Given the description of an element on the screen output the (x, y) to click on. 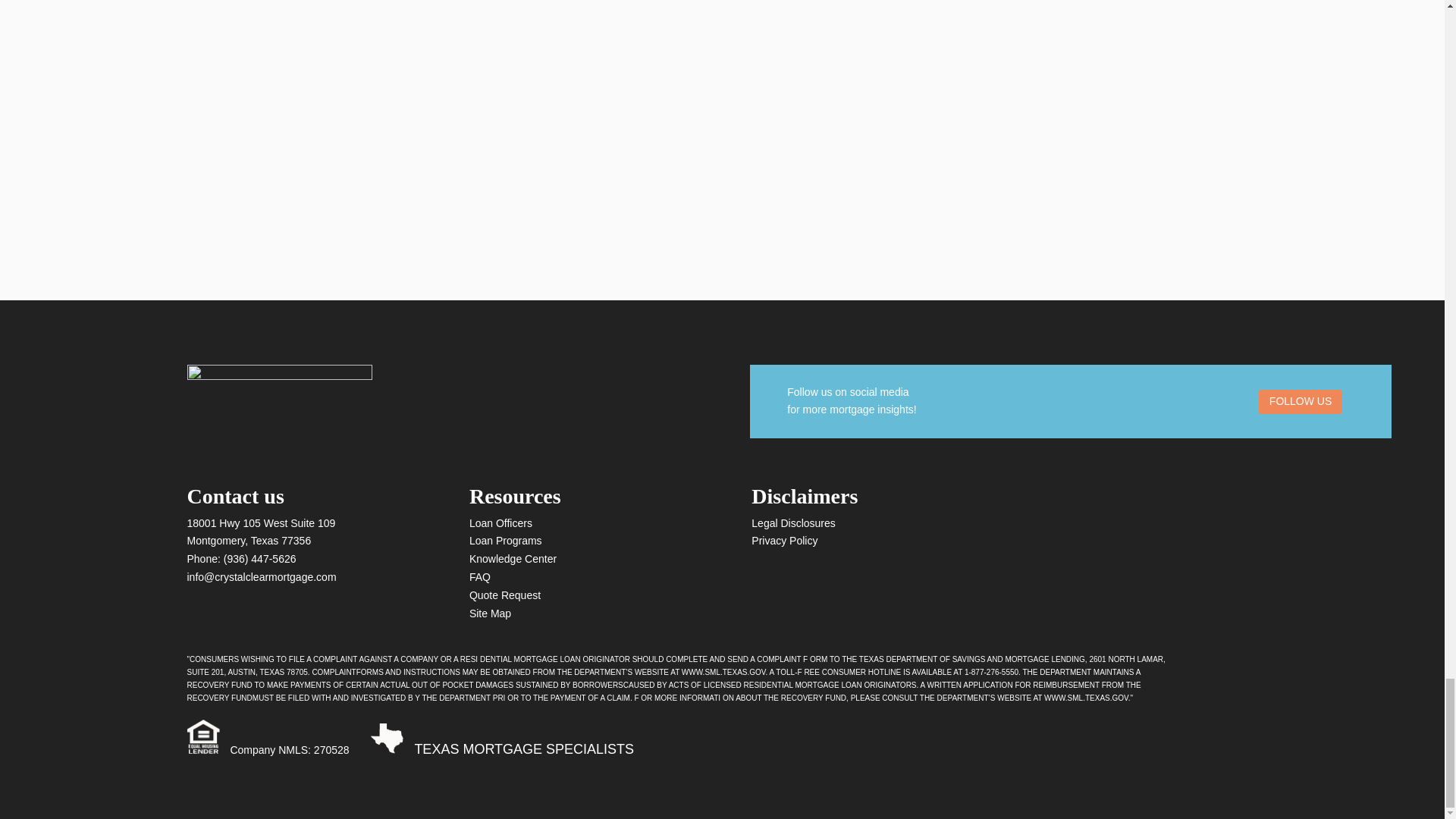
Legal Disclosures (793, 522)
FOLLOW US (1300, 401)
FAQ (479, 576)
Loan Programs (504, 540)
Knowledge Center (512, 558)
Site Map (489, 613)
Loan Officers (500, 522)
Quote Request (504, 594)
Privacy Policy (783, 540)
